Given the description of an element on the screen output the (x, y) to click on. 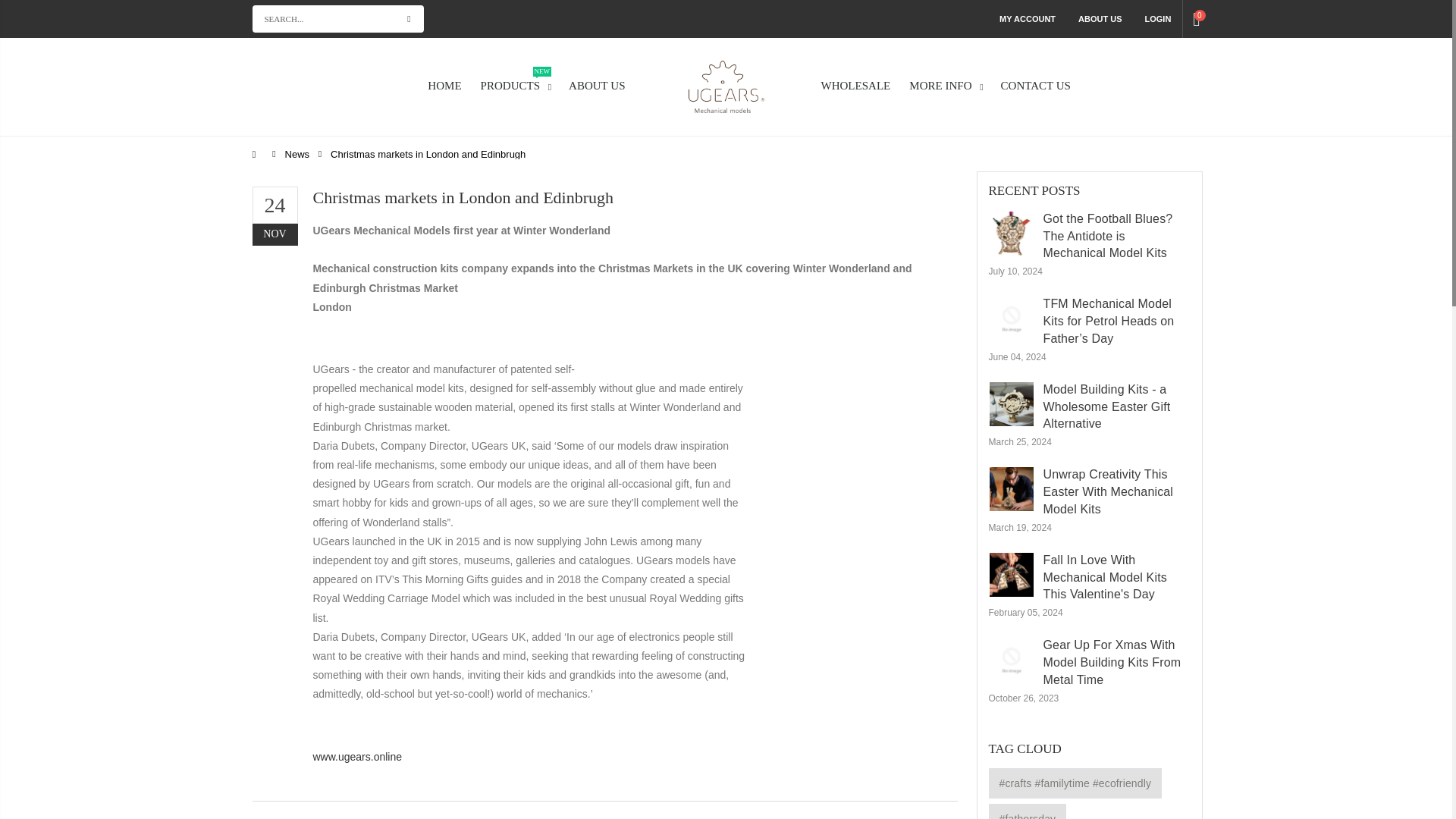
Back to the frontpage (257, 153)
HOME (449, 86)
LOGIN (1158, 18)
WHOLESALE (861, 86)
CONTACT US (1041, 86)
Search (409, 18)
MORE INFO (949, 86)
ABOUT US (602, 86)
MY ACCOUNT (1026, 18)
ABOUT US (519, 86)
